Given the description of an element on the screen output the (x, y) to click on. 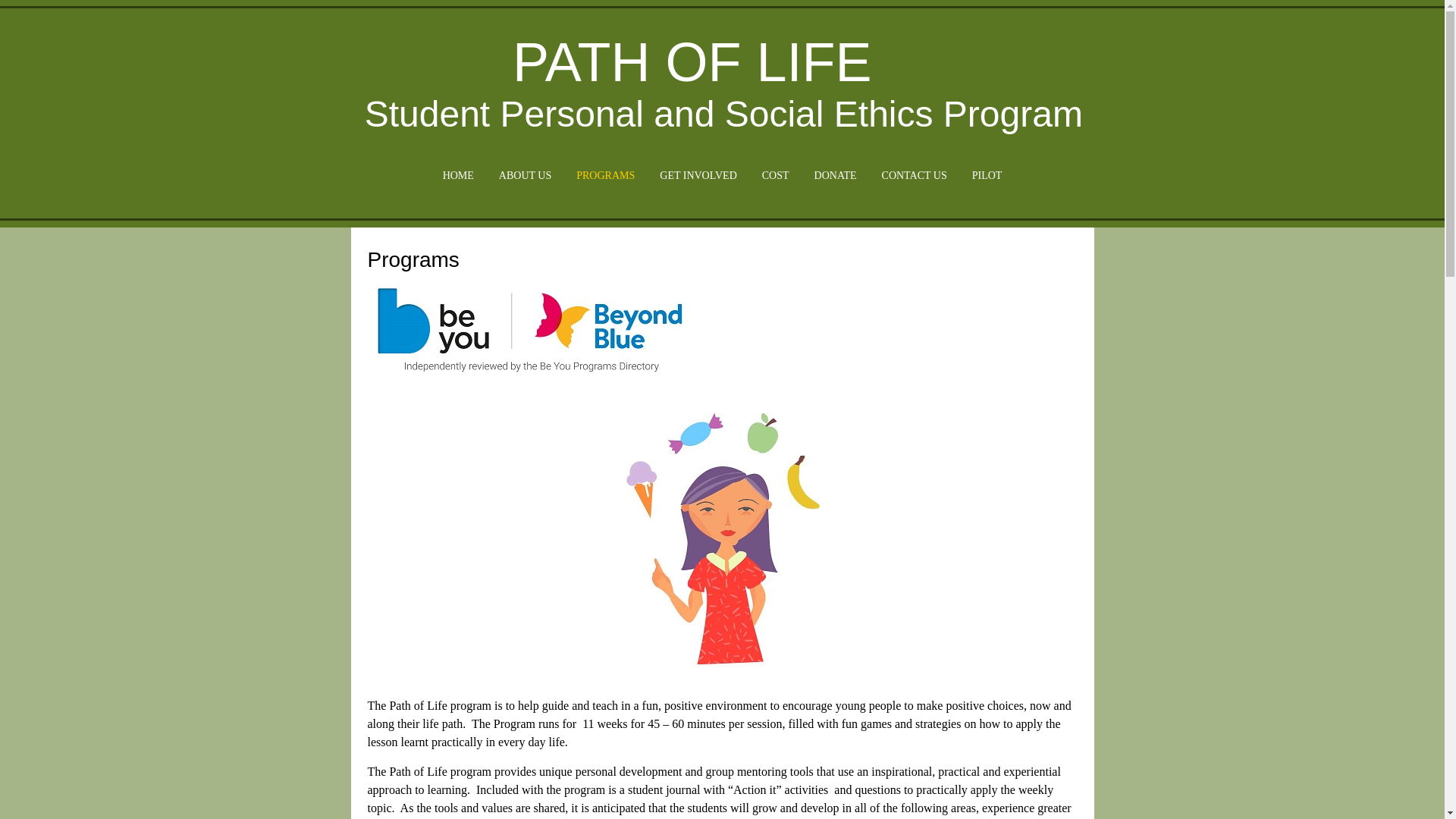
DONATE Element type: text (835, 175)
GET INVOLVED Element type: text (698, 175)
ABOUT US Element type: text (524, 175)
CONTACT US Element type: text (914, 175)
PROGRAMS Element type: text (605, 175)
HOME Element type: text (458, 175)
COST Element type: text (775, 175)
PATH OF LIFE Element type: text (691, 61)
PILOT Element type: text (987, 175)
